Given the description of an element on the screen output the (x, y) to click on. 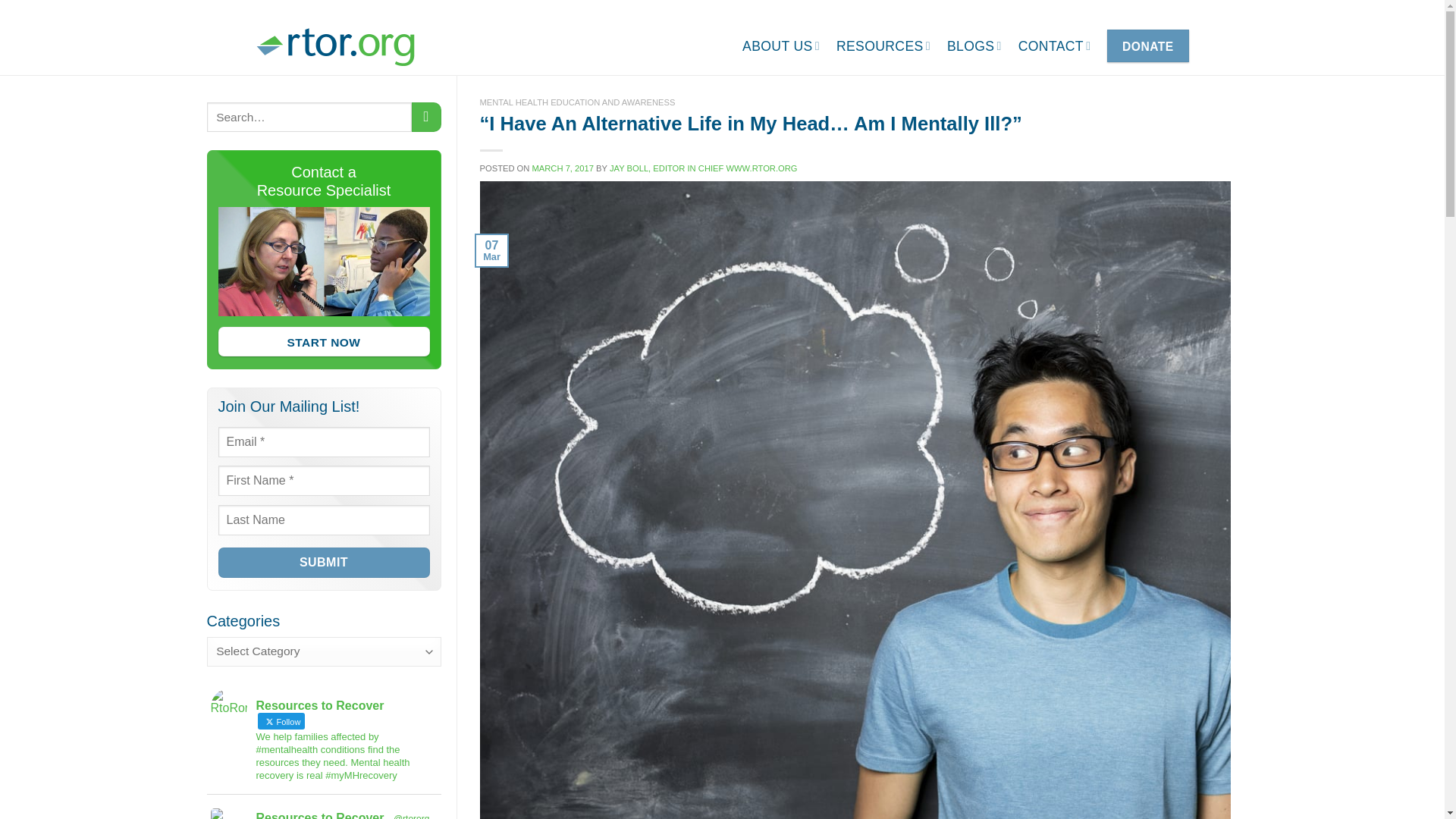
RESOURCES (882, 45)
Resources to Recover (320, 814)
BLOGS (974, 45)
DONATE (1147, 45)
Resources to Recover - Gateway to Mental Health Services (335, 45)
Submit (323, 562)
ABOUT US (780, 45)
Submit (323, 562)
START NOW (323, 341)
CONTACT (1053, 45)
